Given the description of an element on the screen output the (x, y) to click on. 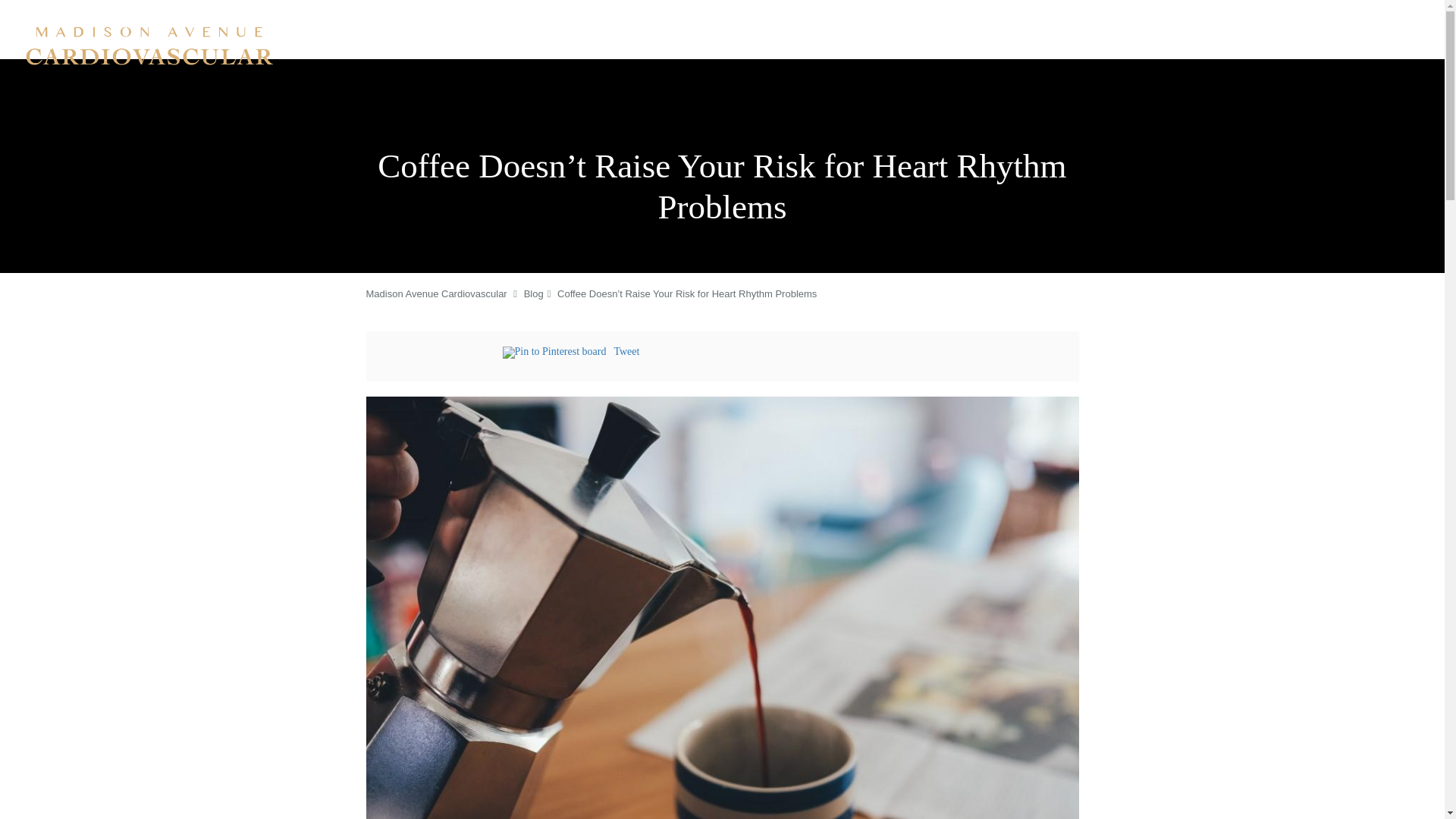
TESTIMONIALS (1257, 30)
OFFICE GALLERY (431, 30)
INTERNAL MEDICINE CONCIERGE SERVICE (784, 30)
Facebook social button (441, 354)
FOR PATIENTS (1123, 30)
SERVICES (626, 30)
MEET DR. MEYER (538, 30)
Skip to main content (74, 7)
CONTACT (1336, 30)
DIETICIAN (940, 30)
HEALTHY LIVING (1025, 30)
